Given the description of an element on the screen output the (x, y) to click on. 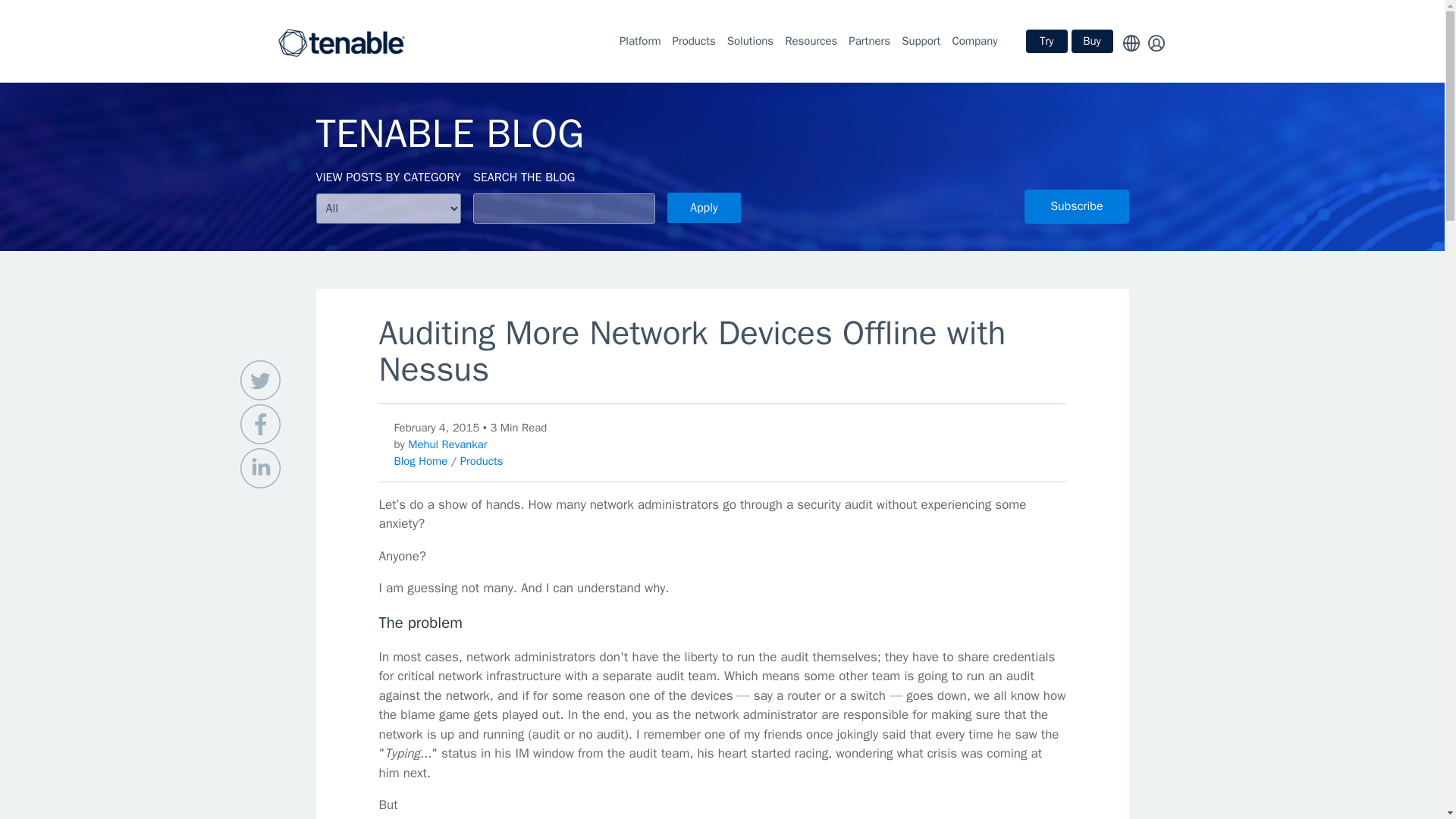
Company (974, 40)
Twitter (259, 380)
Apply (703, 207)
Tenable (341, 41)
Facebook (259, 424)
Partners (869, 40)
Resources (810, 40)
Products (693, 40)
Platform (639, 40)
Support (921, 40)
Solutions (749, 40)
Try (1046, 41)
LinkedIn (259, 467)
Buy (1091, 41)
Subscribe (1076, 206)
